Given the description of an element on the screen output the (x, y) to click on. 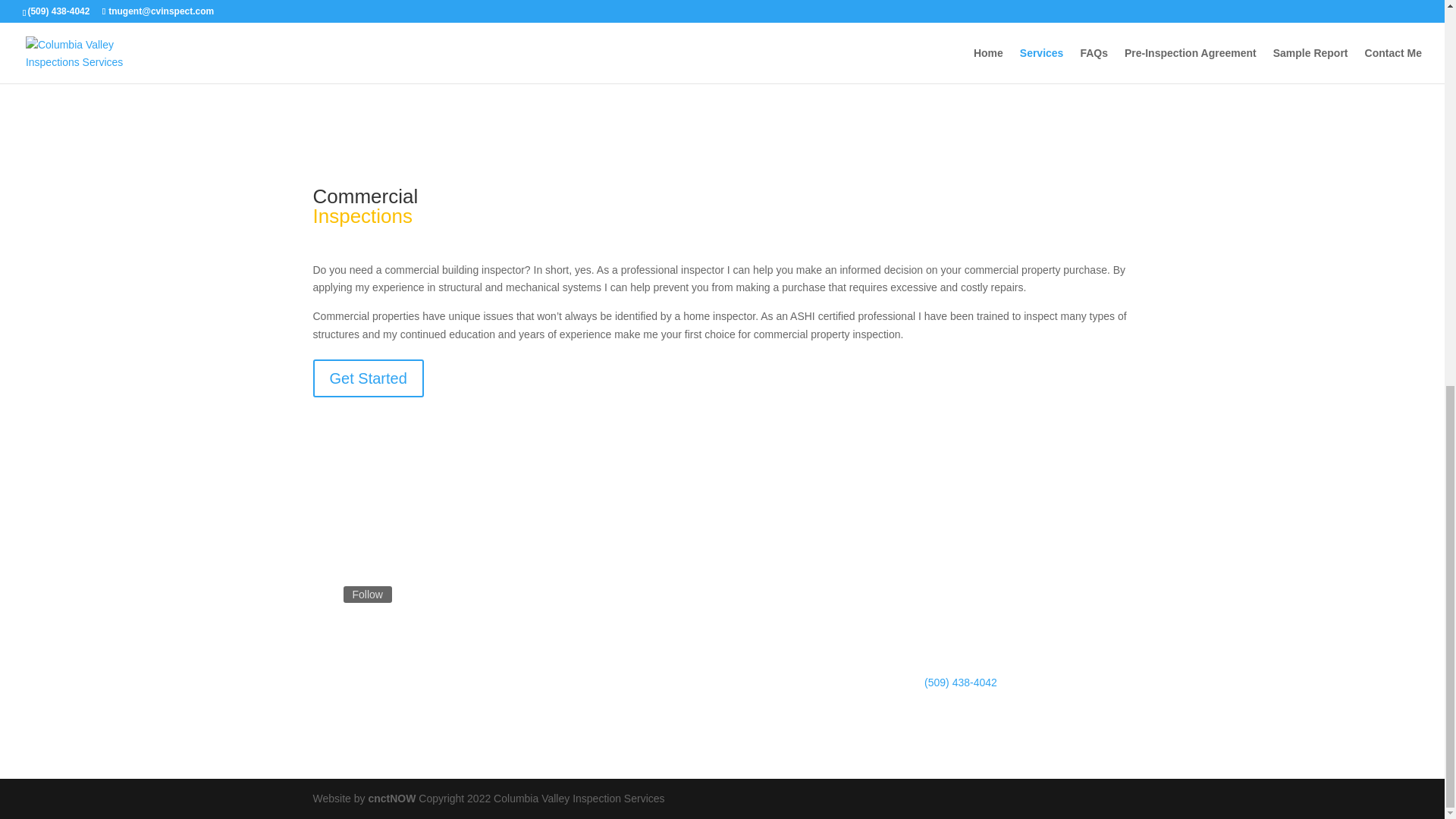
Follow on Facebook (324, 595)
Get Started (790, 6)
cnctNOW (391, 798)
Get Started (368, 378)
Facebook (366, 594)
Follow (366, 594)
